Given the description of an element on the screen output the (x, y) to click on. 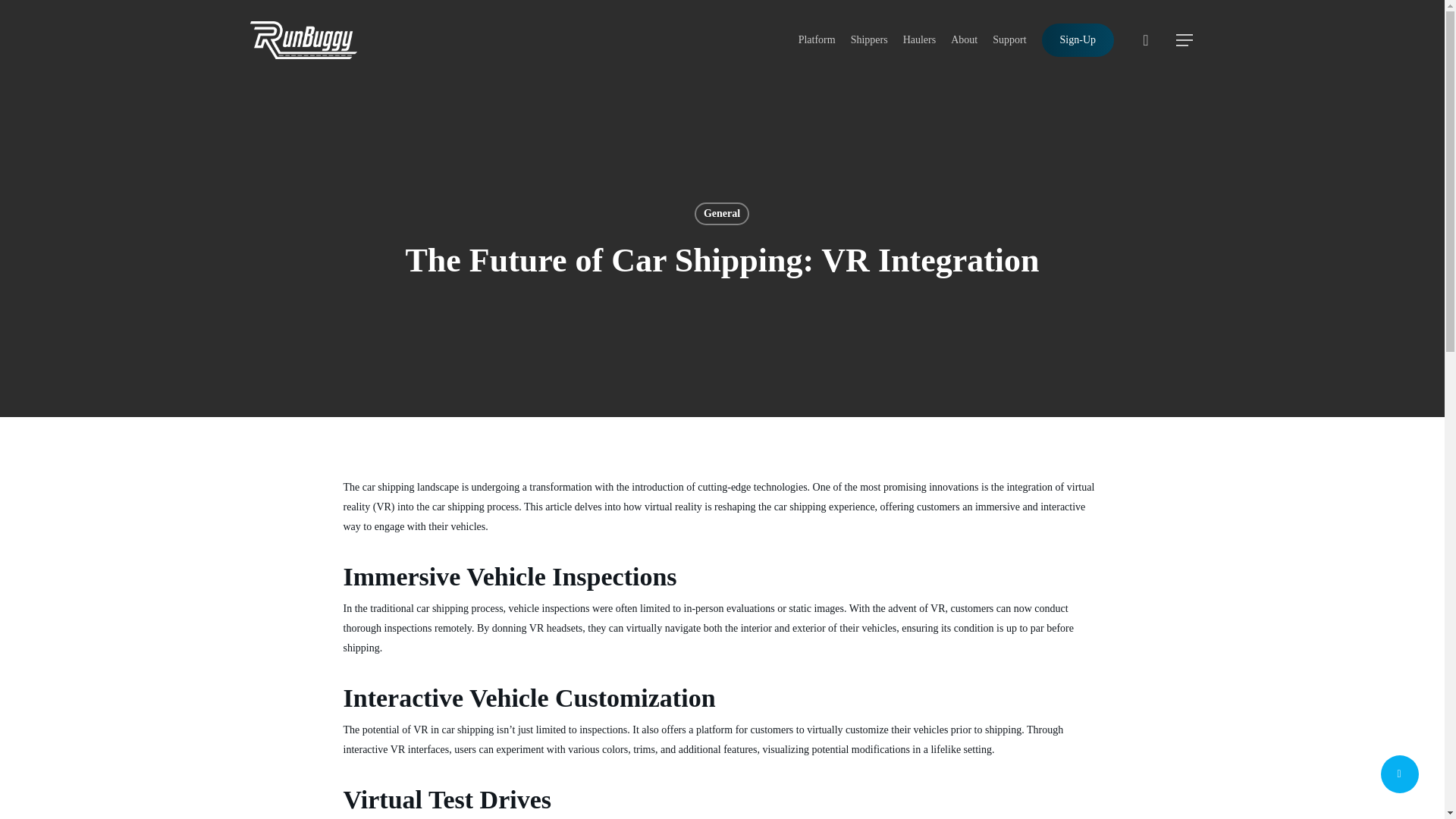
Sign-Up (1077, 39)
Haulers (919, 39)
About (963, 39)
Menu (1184, 39)
Platform (816, 39)
General (721, 213)
account (1145, 39)
Shippers (869, 39)
Support (1009, 39)
